Given the description of an element on the screen output the (x, y) to click on. 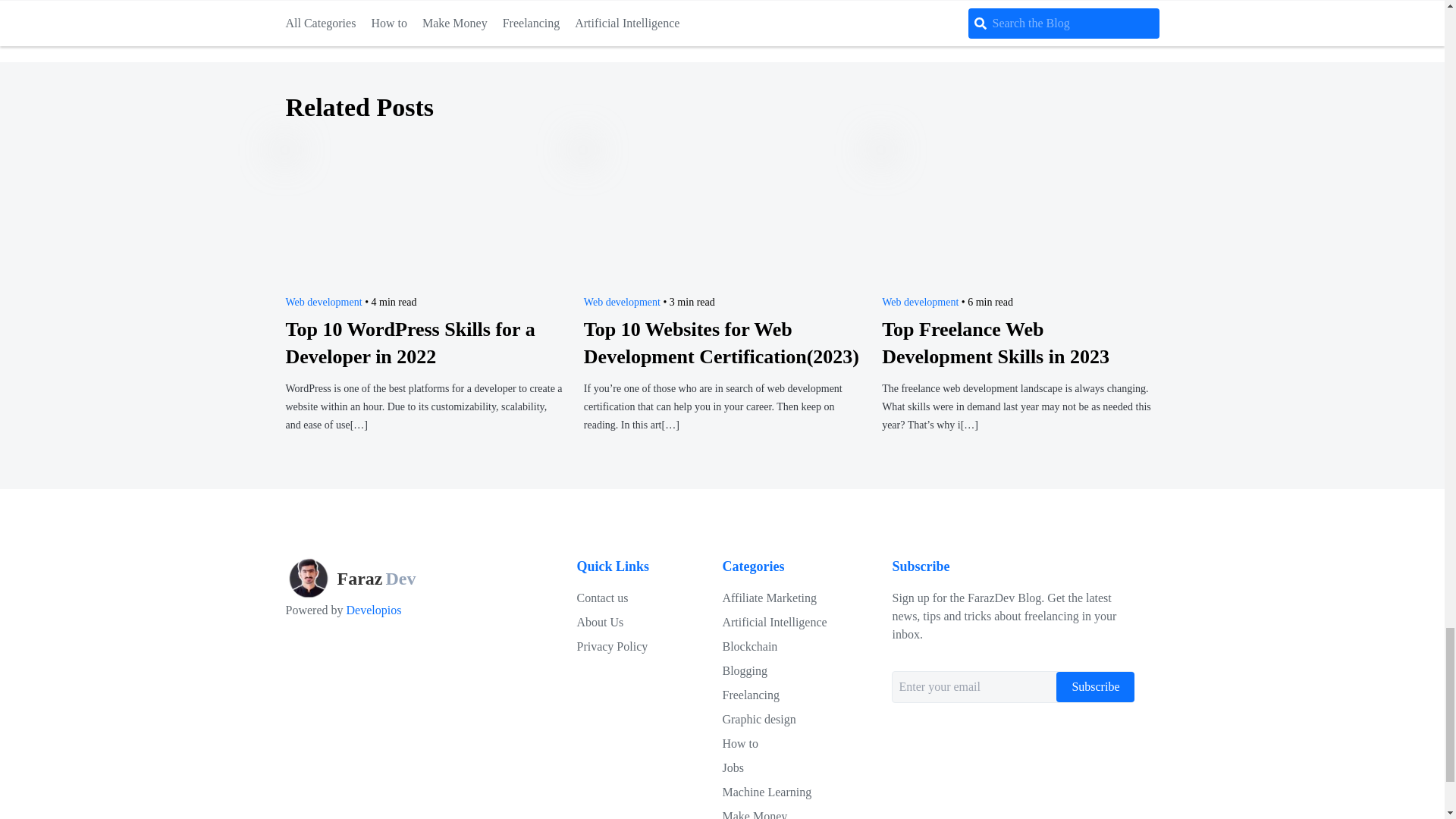
Blockchain (749, 645)
Web development (372, 578)
Web development (622, 301)
Contact us (323, 301)
Privacy Policy (601, 597)
About Us (611, 645)
Web development (599, 621)
Developios (920, 301)
Affiliate Marketing (371, 609)
